Given the description of an element on the screen output the (x, y) to click on. 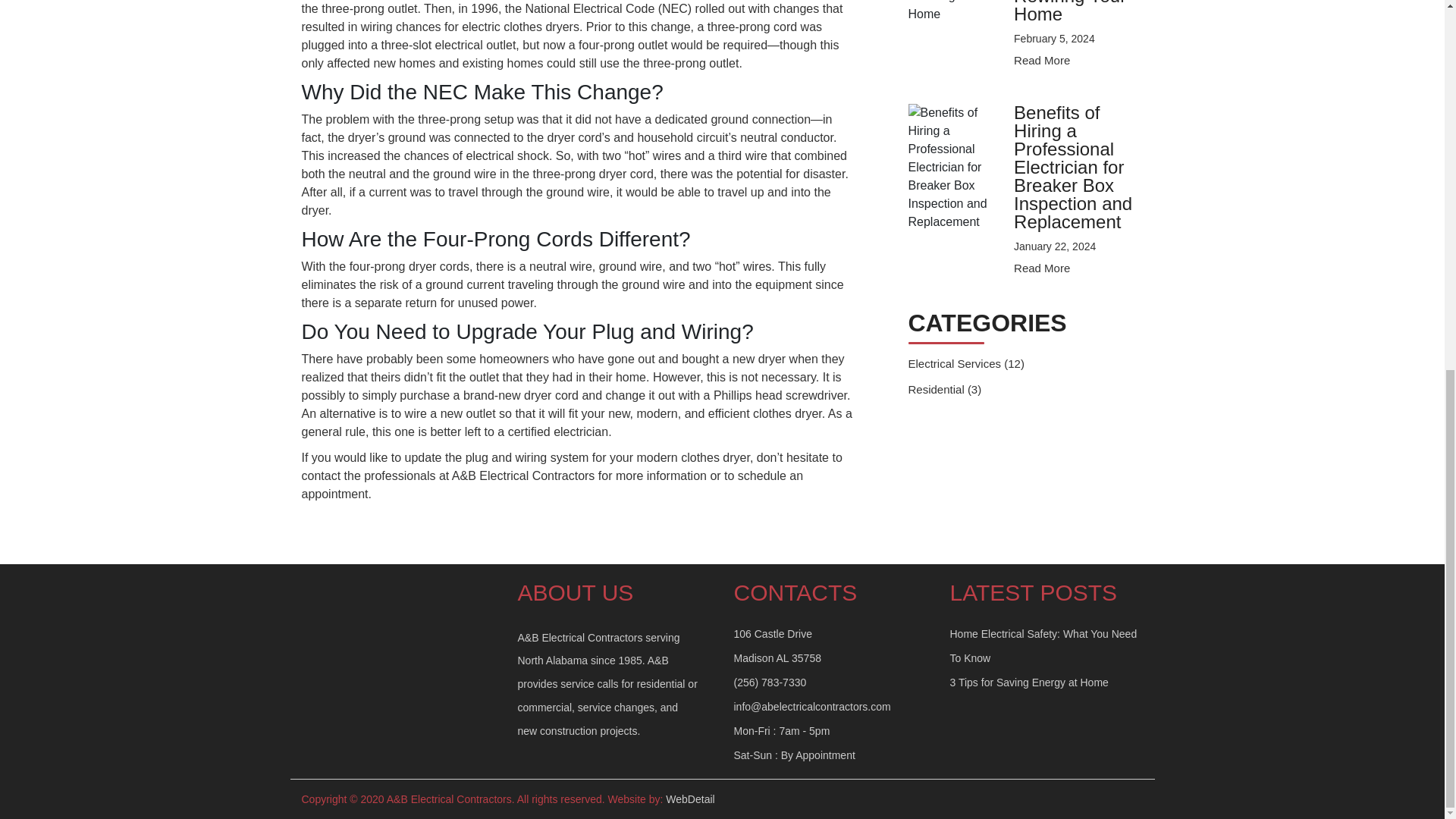
Read More (1041, 60)
106 Castle Drive (772, 633)
Sat-Sun : By Appointment (794, 755)
3 Tips for Saving Energy at Home (1028, 682)
WebDetail (689, 799)
Read More (1041, 267)
Mon-Fri : 7am - 5pm (781, 730)
Home Electrical Safety: What You Need To Know (1043, 646)
Madison AL 35758 (777, 657)
